Given the description of an element on the screen output the (x, y) to click on. 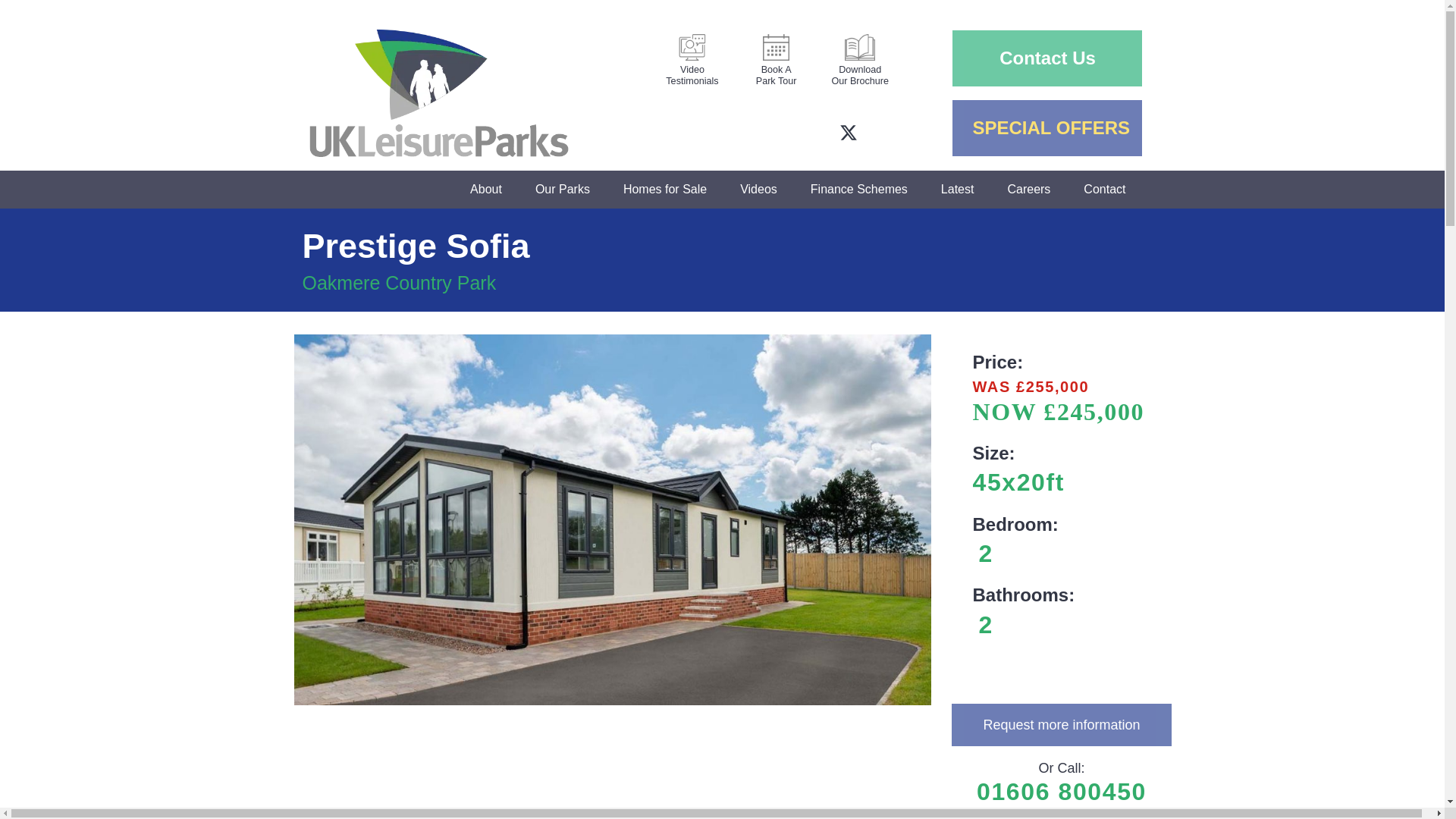
Homes for Sale (665, 189)
SPECIAL OFFERS (1046, 127)
SPECIAL OFFERS (1046, 130)
Contact Us (1046, 61)
Our Parks (562, 189)
Contact Us (692, 58)
About (1046, 58)
